Given the description of an element on the screen output the (x, y) to click on. 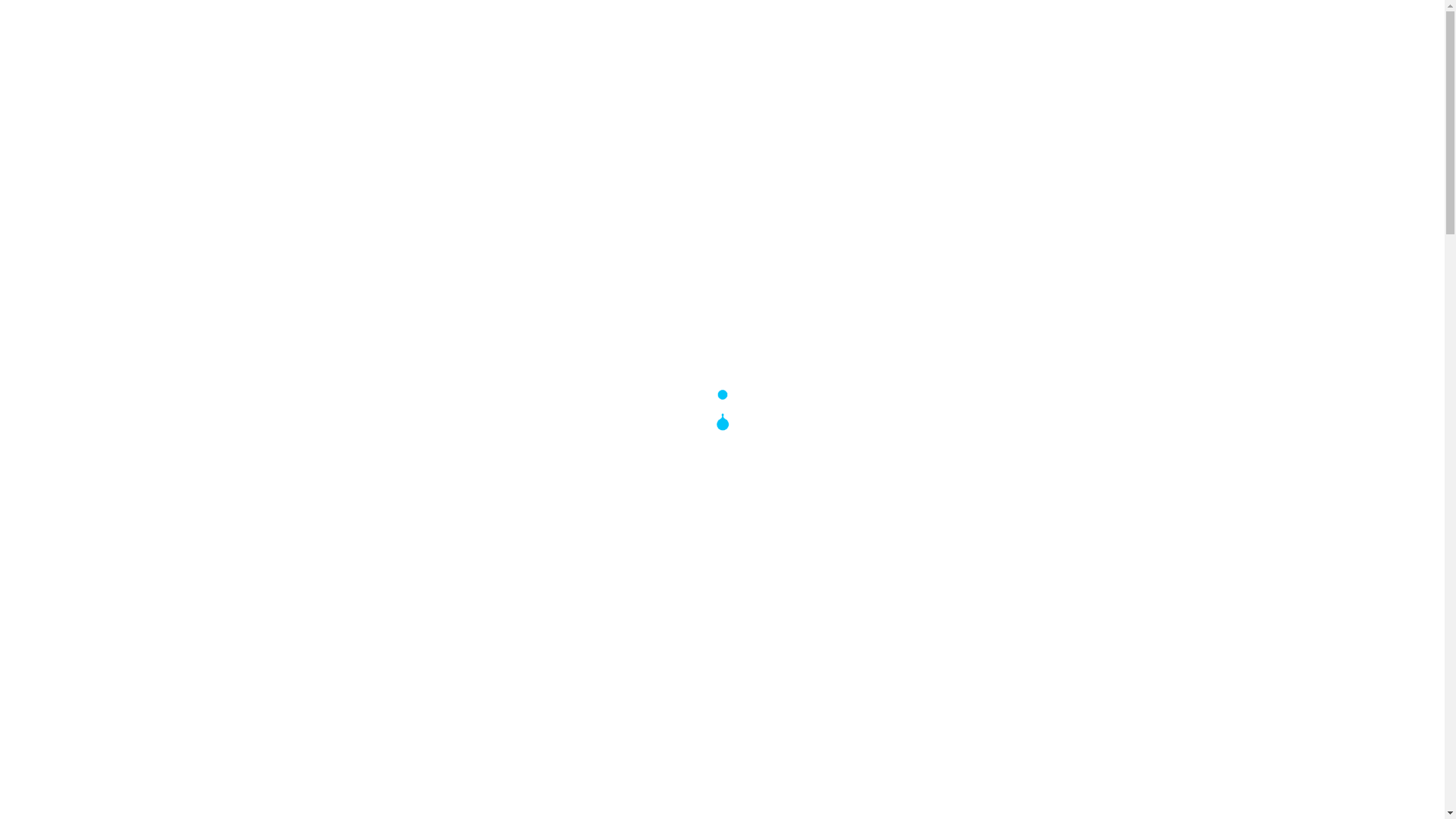
RETAIL Element type: text (683, 115)
CLIENTS Element type: text (953, 115)
NEWS Element type: text (1012, 115)
CONTACT Element type: text (1077, 115)
HEALTHCARE Element type: text (598, 115)
CAREERS Element type: text (885, 115)
Excell Security - Excell Security Element type: hover (722, 37)
EDUCATION Element type: text (497, 115)
COMMERCIAL Element type: text (394, 115)
CROWD CONTROL Element type: text (783, 115)
